Given the description of an element on the screen output the (x, y) to click on. 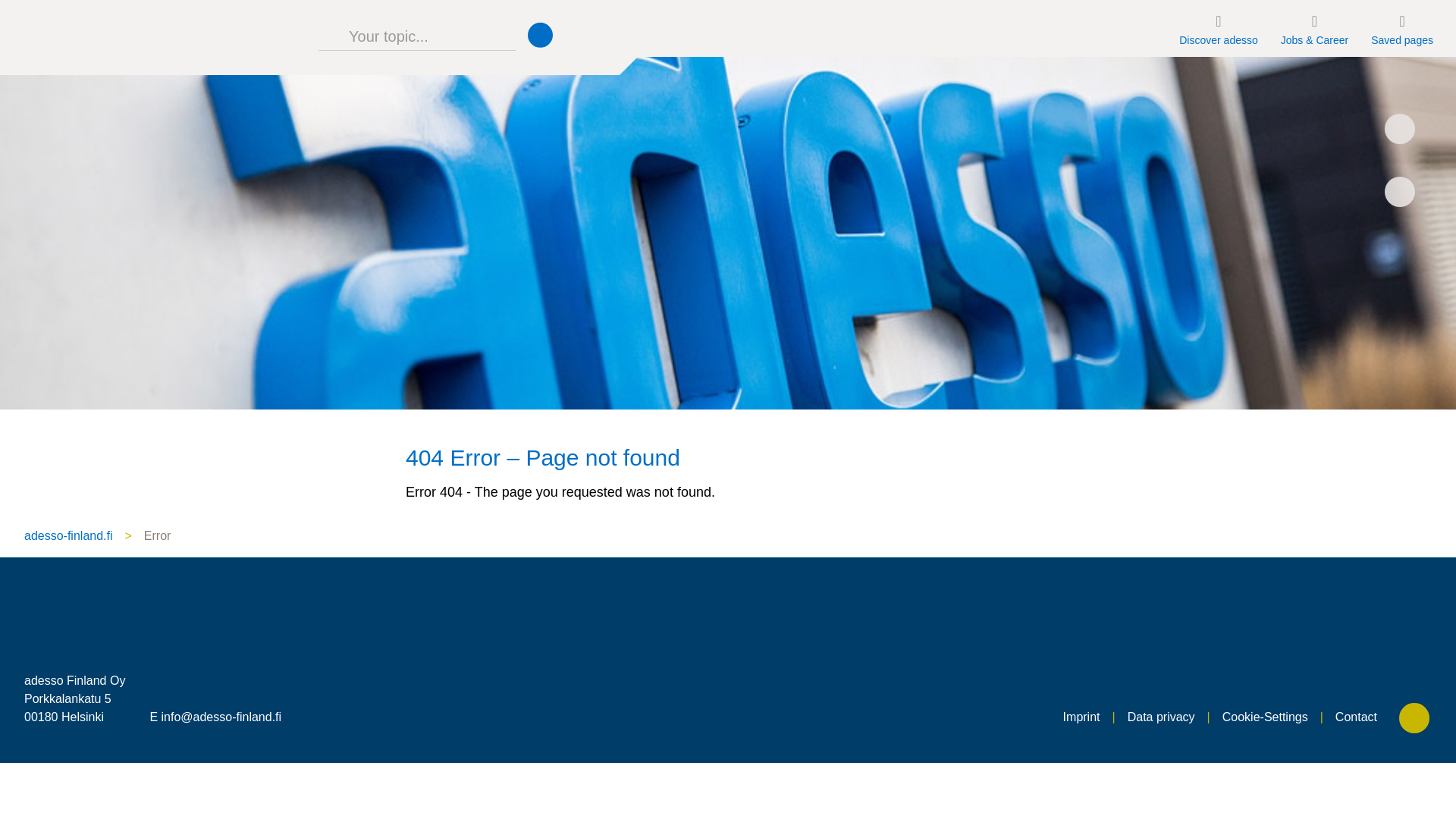
Discover adesso (1218, 28)
Saved pages (1401, 28)
scroll to top (1415, 720)
